Given the description of an element on the screen output the (x, y) to click on. 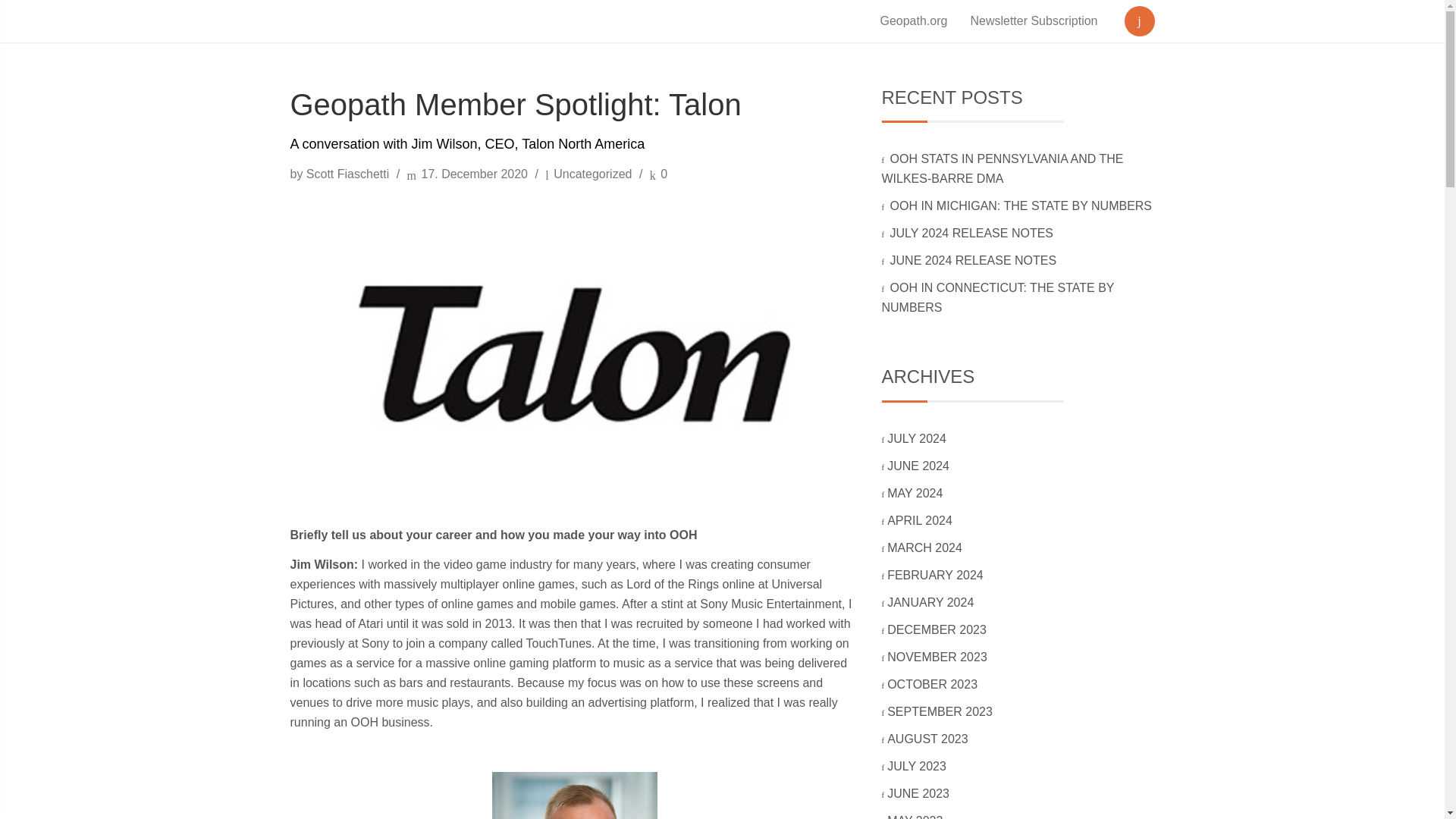
Geopath Blog (357, 21)
JUNE 2024 RELEASE NOTES (974, 259)
MARCH 2024 (924, 547)
JULY 2023 (917, 766)
AUGUST 2023 (927, 738)
Newsletter Subscription (1033, 21)
DECEMBER 2023 (937, 629)
SEPTEMBER 2023 (940, 711)
JUNE 2023 (919, 793)
Uncategorized (592, 173)
